Given the description of an element on the screen output the (x, y) to click on. 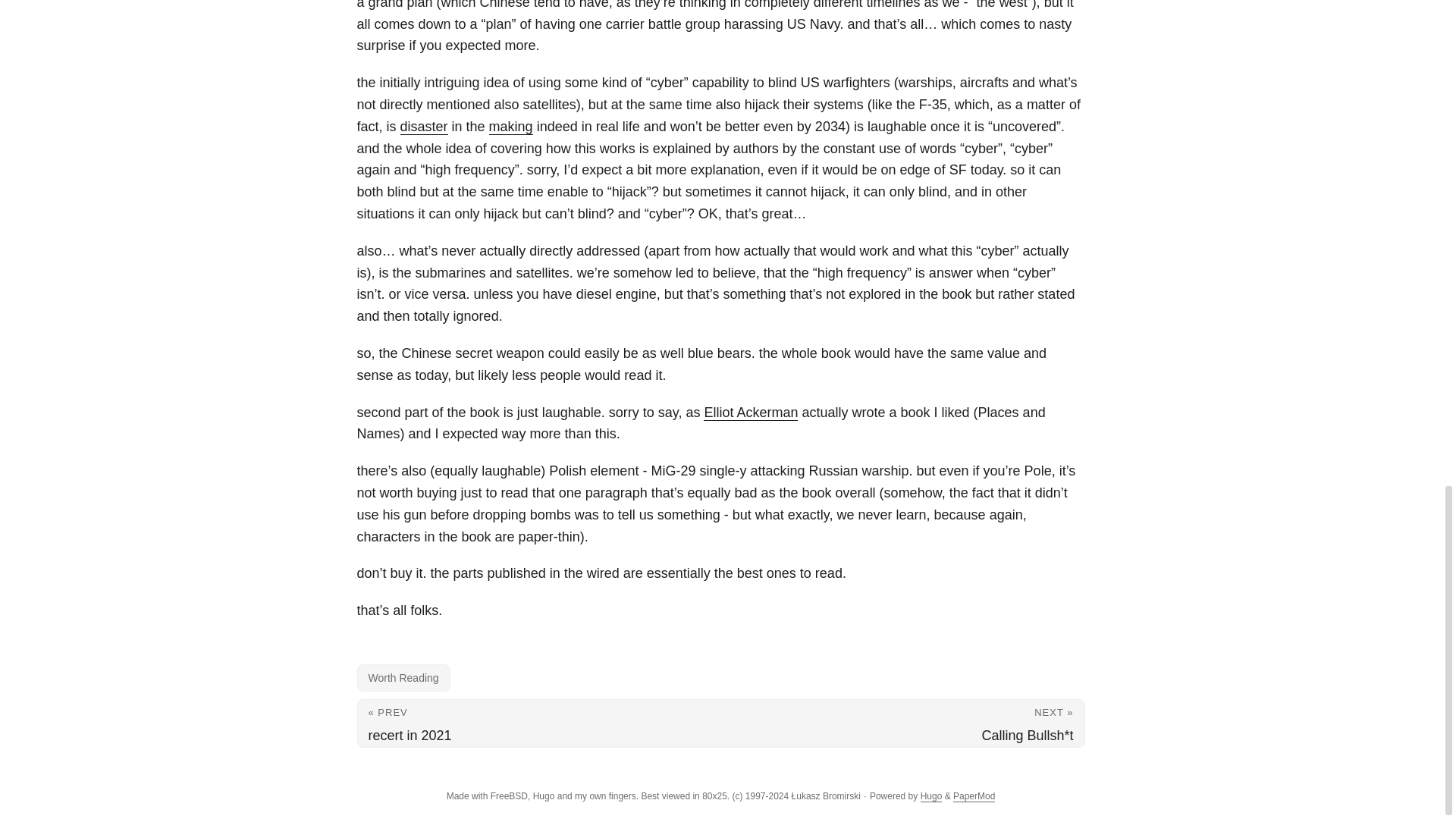
disaster (424, 126)
Elliot Ackerman (750, 412)
making (510, 126)
Worth Reading (402, 677)
PaperMod (973, 796)
Hugo (931, 796)
